Given the description of an element on the screen output the (x, y) to click on. 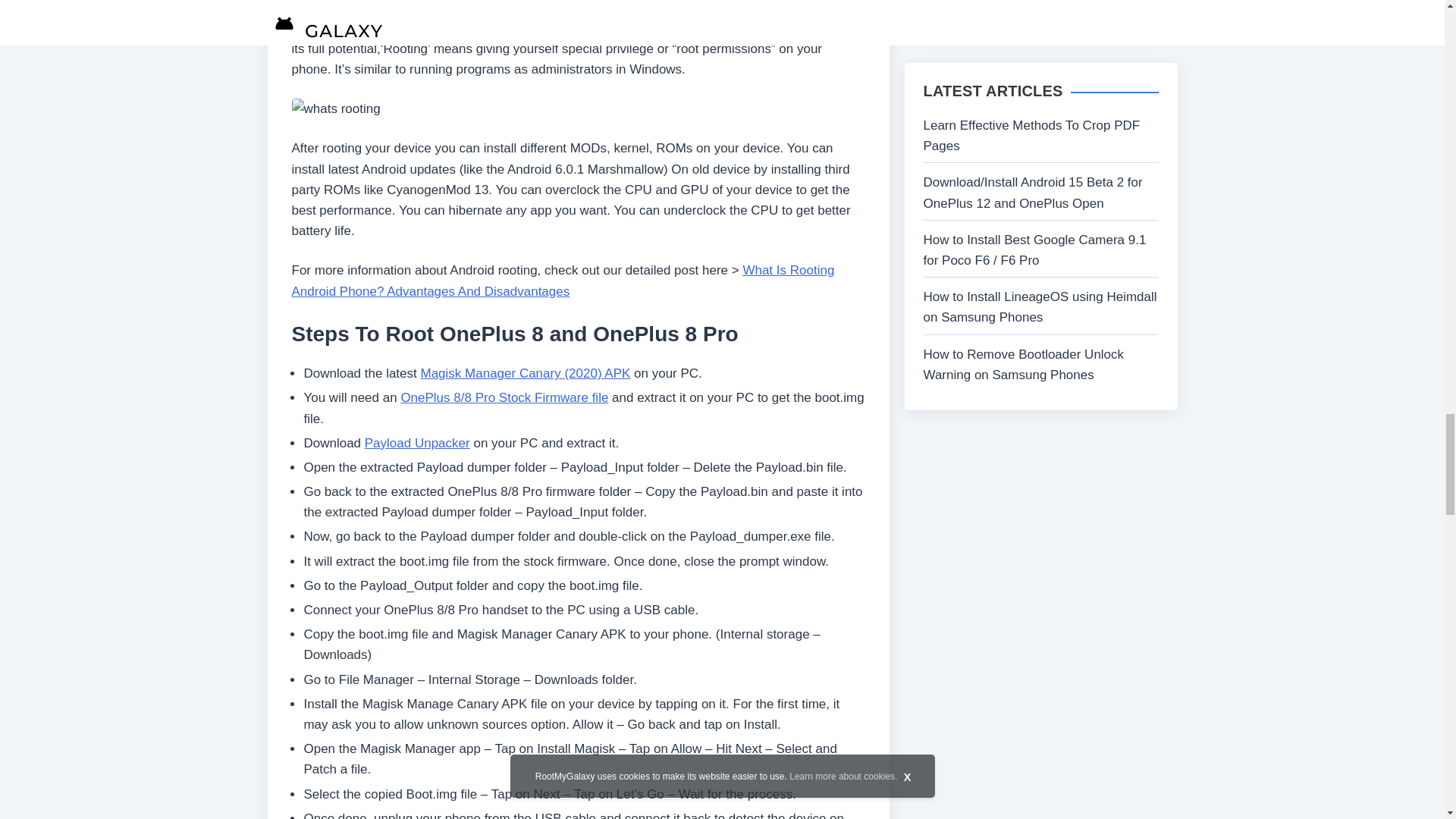
What Is Rooting Android Phone? Advantages And Disadvantages (562, 280)
